Given the description of an element on the screen output the (x, y) to click on. 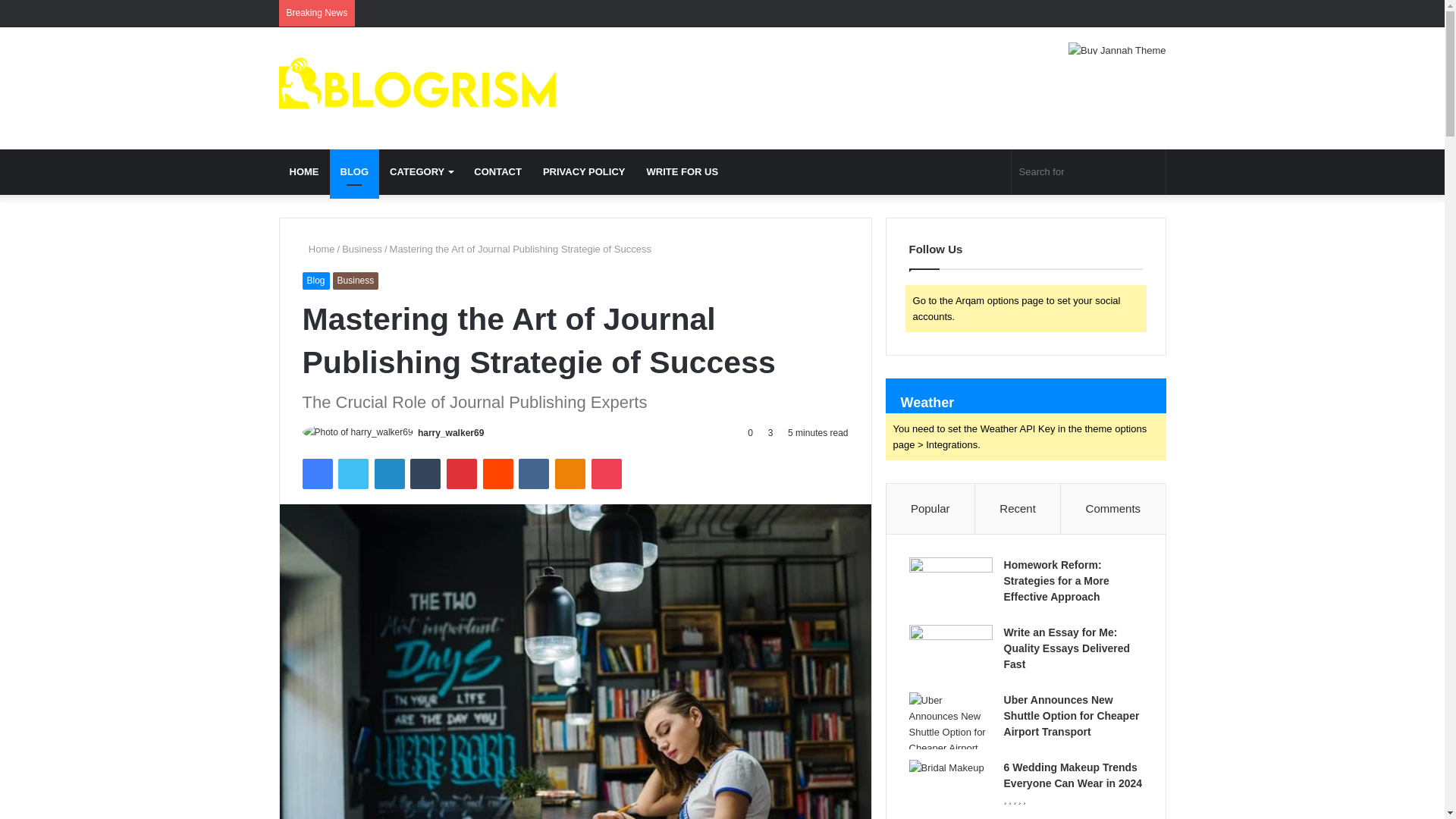
PRIVACY POLICY (584, 171)
Business (361, 248)
Home (317, 248)
Tumblr (425, 473)
Twitter (352, 473)
HOME (304, 171)
Facebook (316, 473)
Search for (1088, 171)
blogrism.com (419, 87)
Pocket (606, 473)
Odnoklassniki (569, 473)
WRITE FOR US (681, 171)
CATEGORY (420, 171)
BLOG (353, 171)
VKontakte (533, 473)
